Given the description of an element on the screen output the (x, y) to click on. 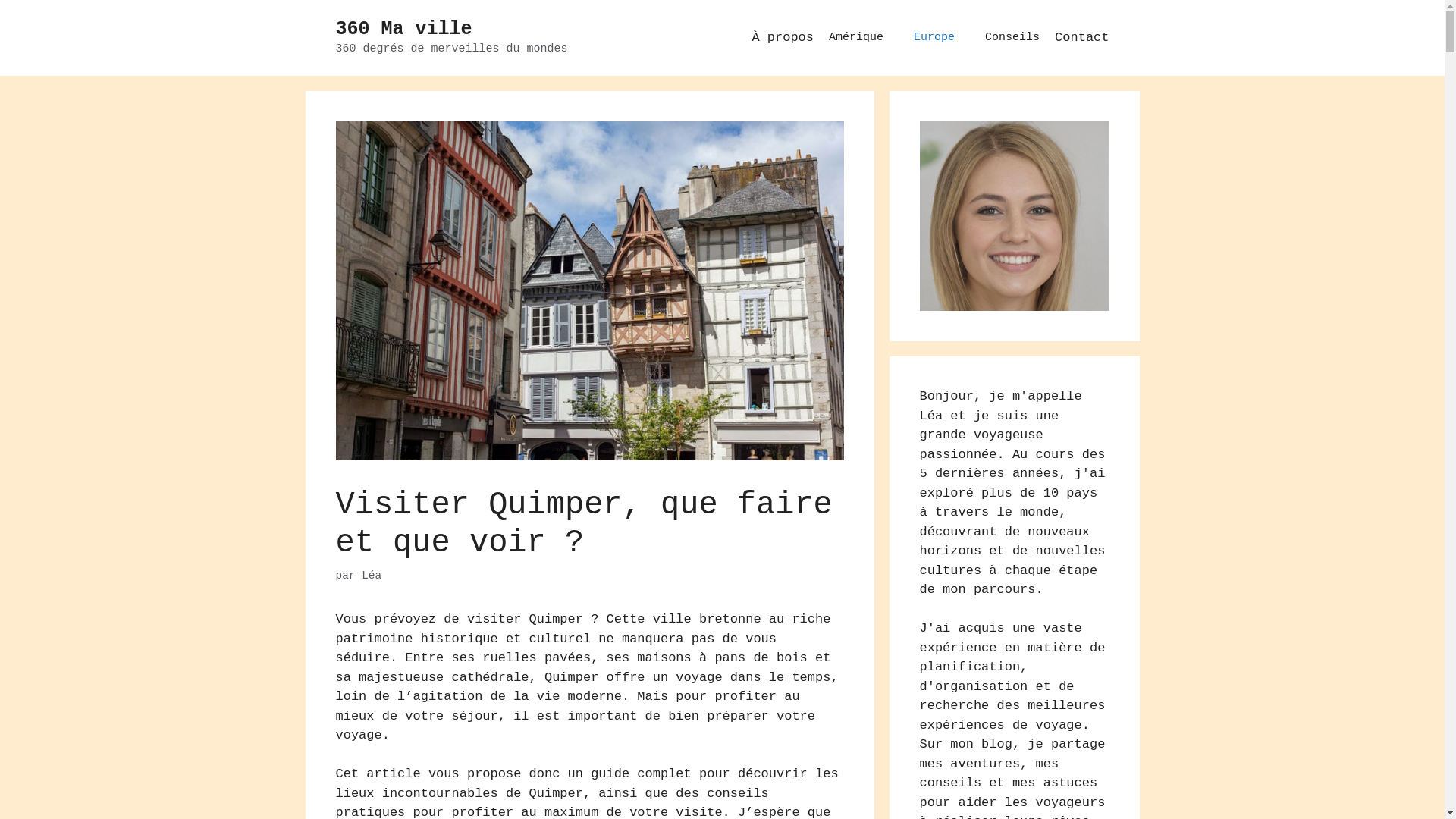
Conseils Element type: text (1011, 37)
360 Ma ville Element type: text (403, 29)
Europe Element type: text (933, 37)
